Given the description of an element on the screen output the (x, y) to click on. 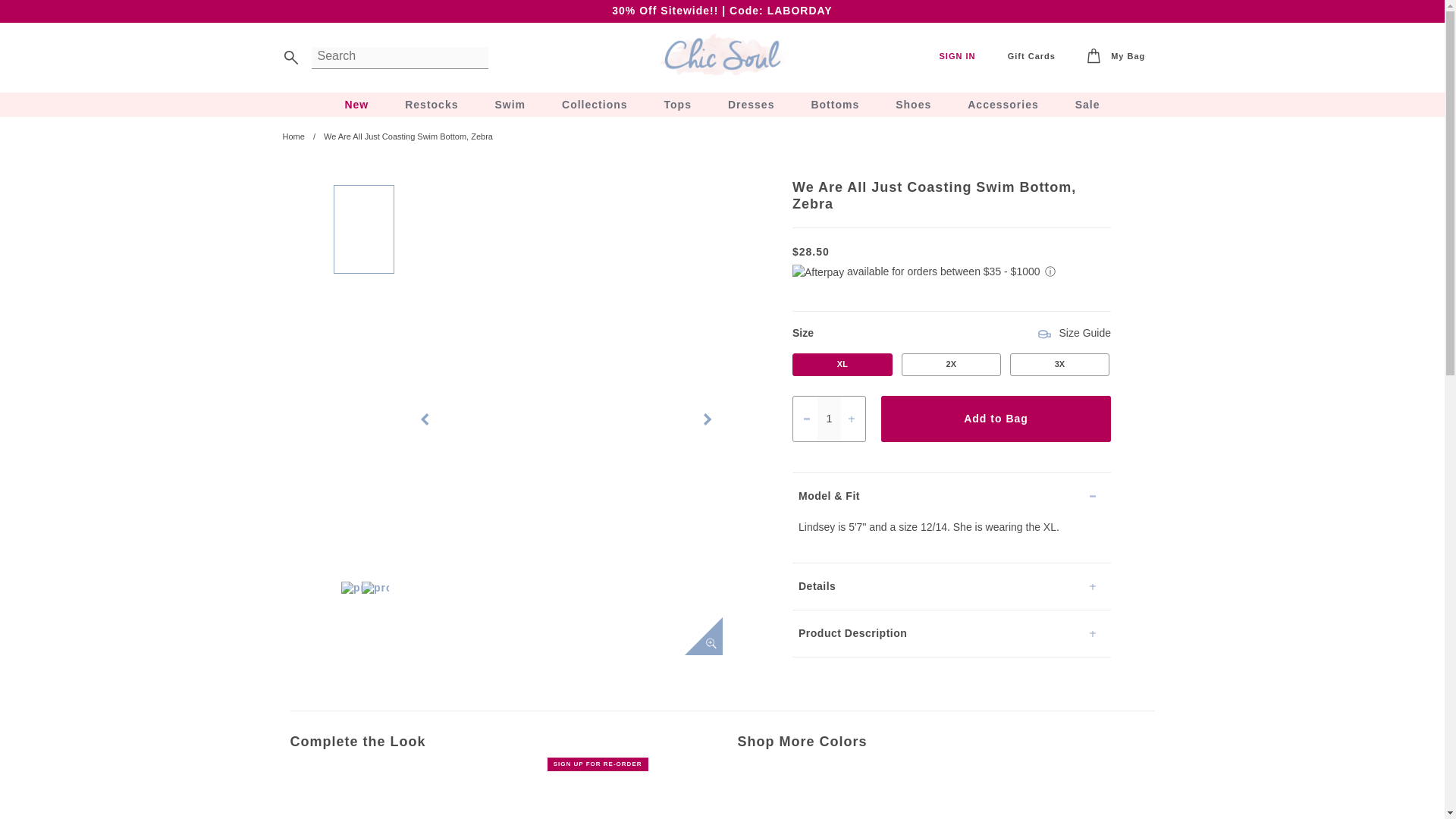
Collections (594, 104)
Swim (510, 104)
SIGN IN (957, 55)
Go to Shopping Cart (1115, 57)
Gift Cards (1031, 55)
New (355, 104)
Restocks (431, 104)
